Given the description of an element on the screen output the (x, y) to click on. 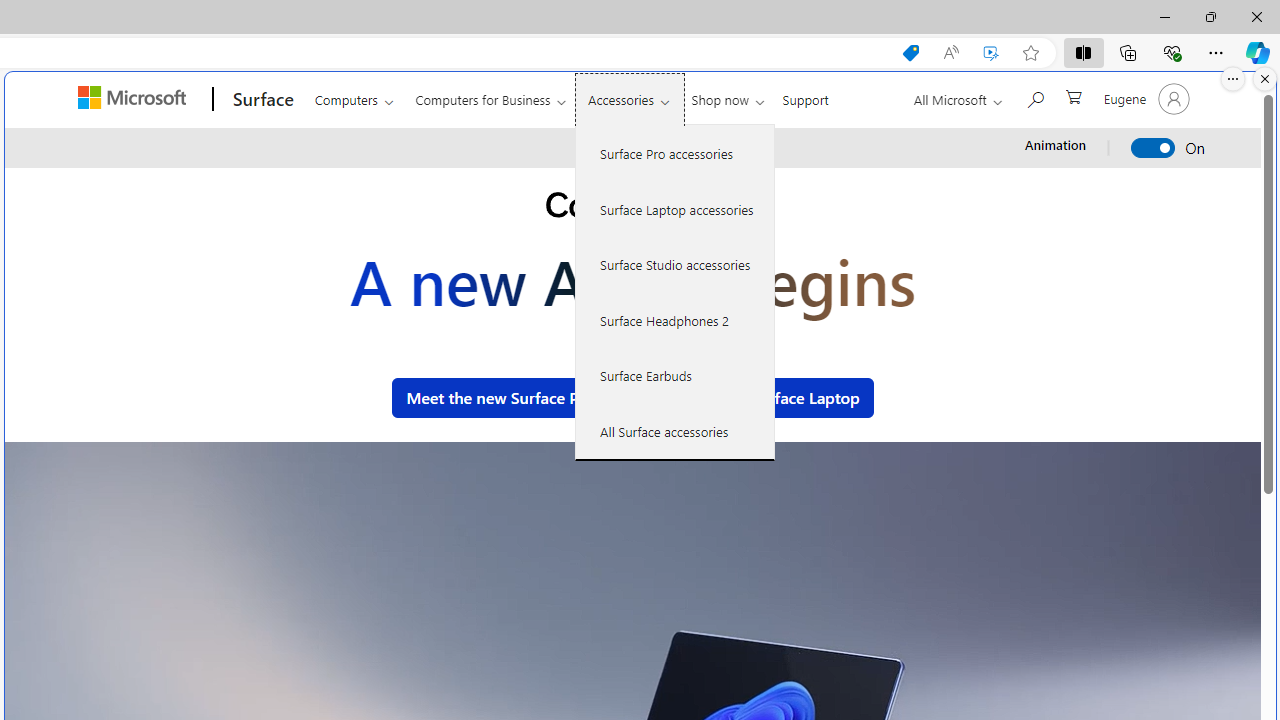
Search Microsoft.com (1034, 97)
Surface Laptop accessories (675, 208)
Account manager for Eugene (1144, 98)
0 items in shopping cart (1072, 95)
Meet the new Surface Laptop (753, 397)
Support (805, 96)
More options. (1233, 79)
